Given the description of an element on the screen output the (x, y) to click on. 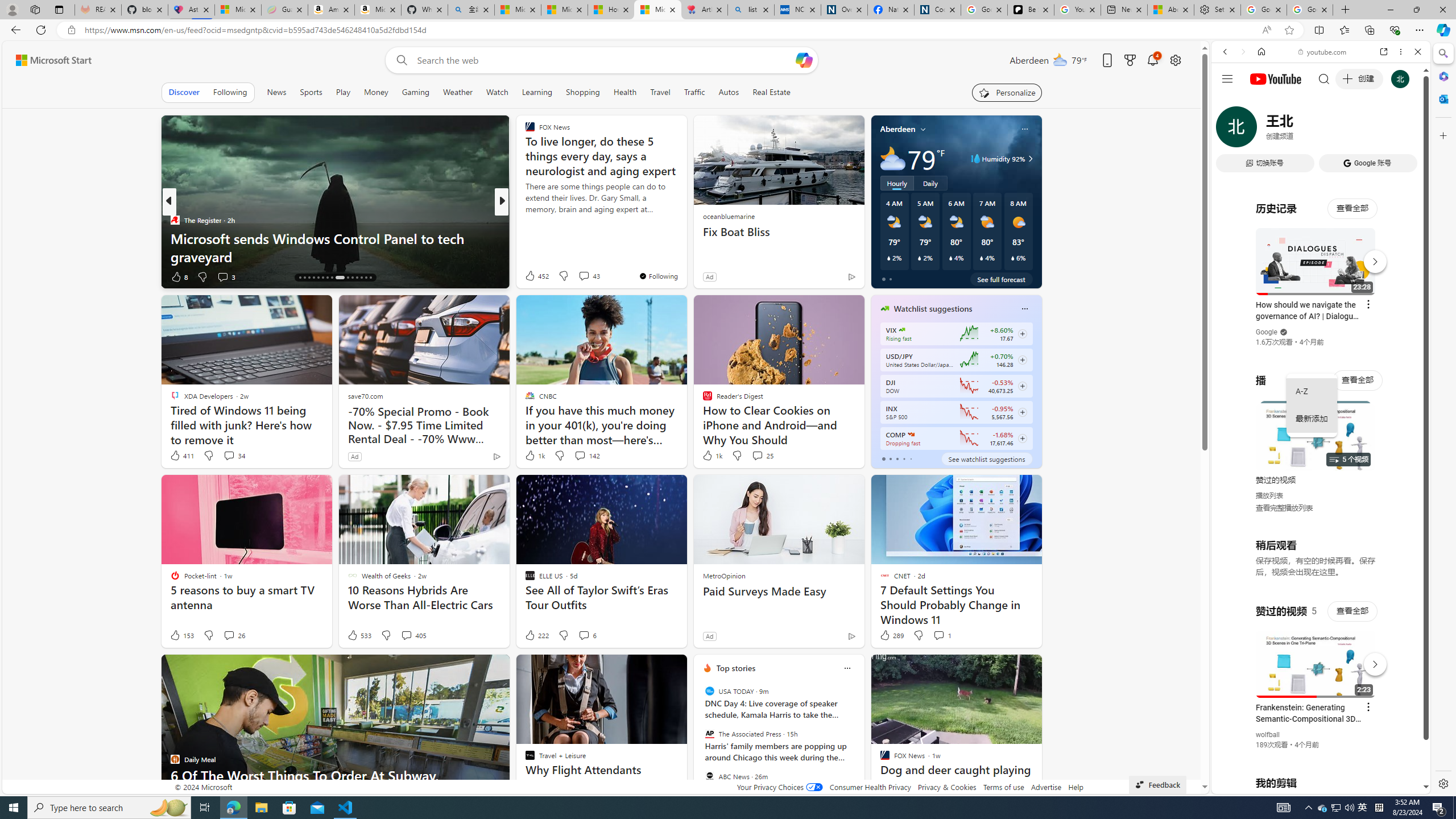
View comments 43 Comment (583, 275)
youtube.com (1322, 51)
411 Like (181, 455)
wolfball (1268, 734)
Search Filter, Search Tools (1350, 129)
View comments 34 Comment (228, 455)
View comments 25 Comment (756, 455)
Hide this story (1007, 668)
SEARCH TOOLS (1350, 130)
AutomationID: tab-19 (313, 277)
